Given the description of an element on the screen output the (x, y) to click on. 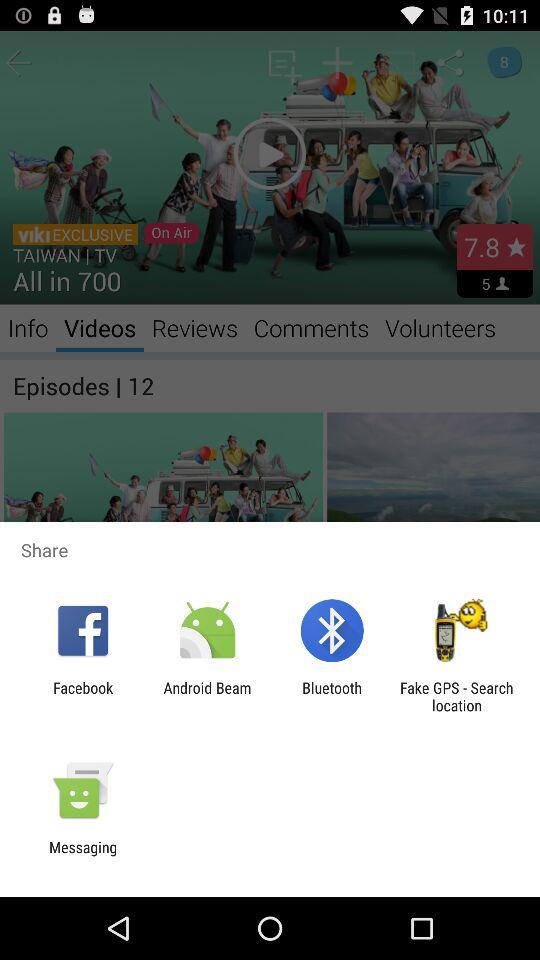
scroll to the android beam item (207, 696)
